Given the description of an element on the screen output the (x, y) to click on. 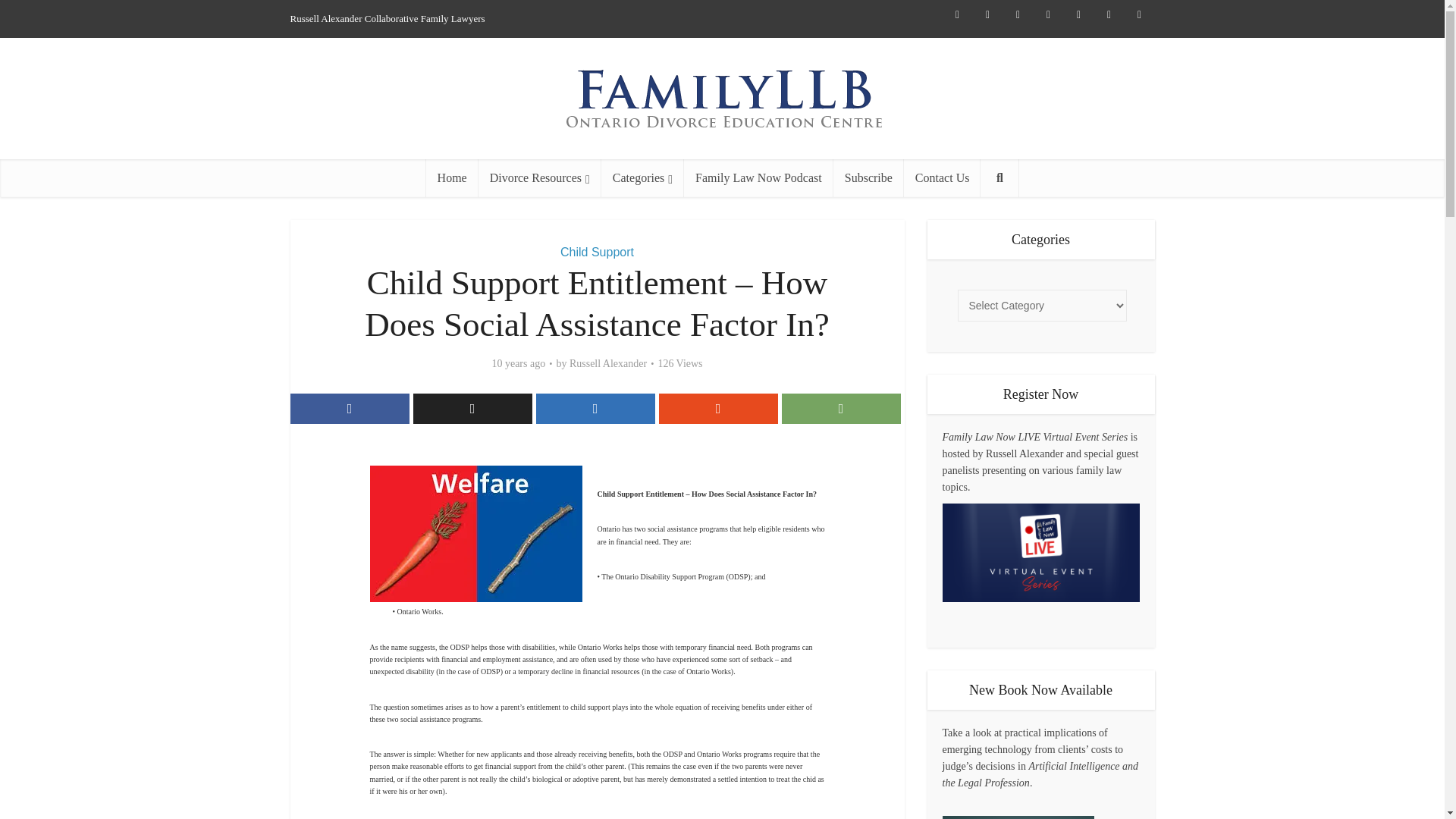
Categories (642, 177)
Divorce Resources (540, 177)
Home (452, 177)
Russell Alexander Collaborative Family Lawyers (402, 19)
